Given the description of an element on the screen output the (x, y) to click on. 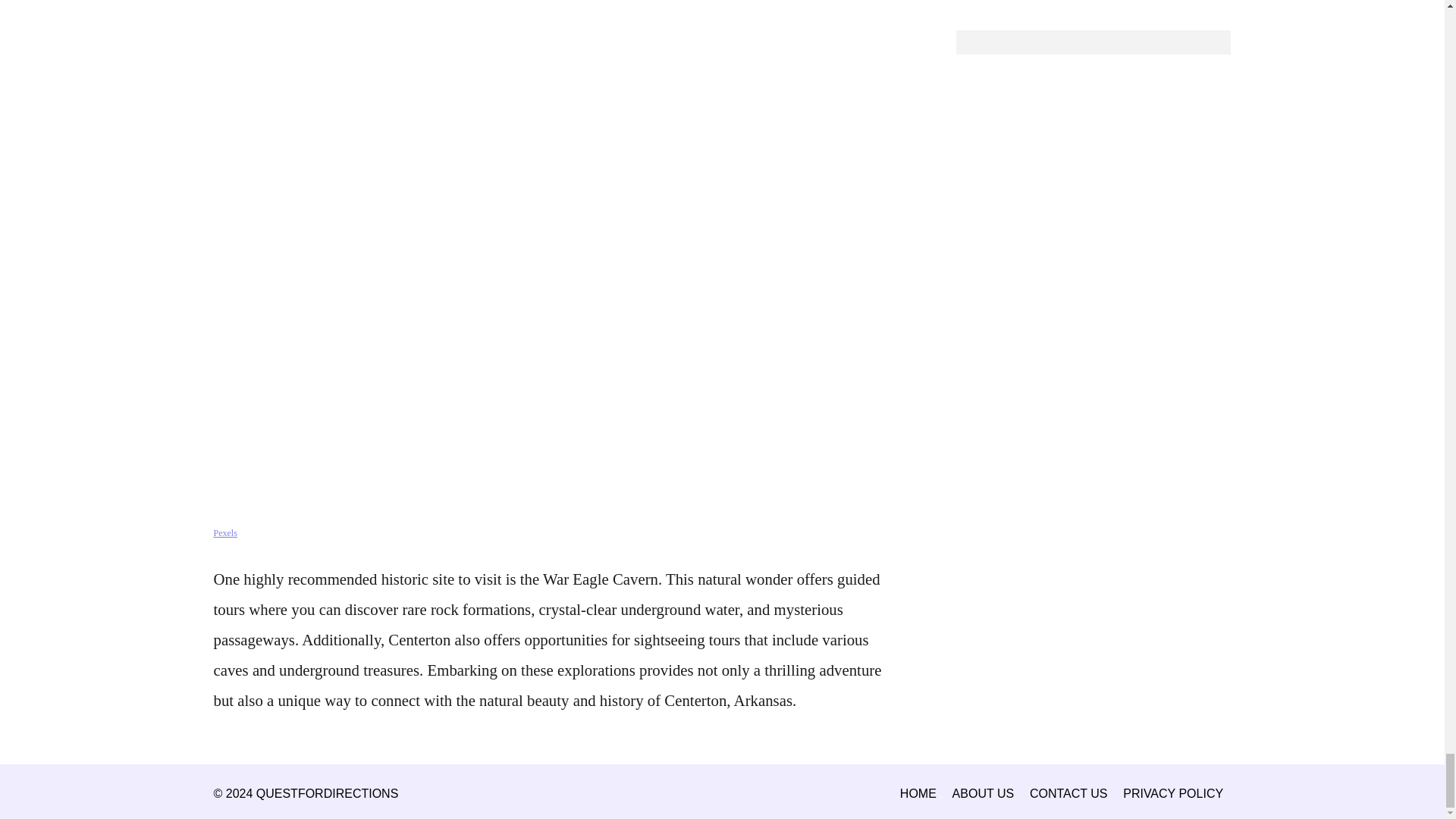
HOME (917, 793)
ABOUT US (982, 793)
PRIVACY POLICY (1173, 793)
Pexels (225, 532)
CONTACT US (1068, 793)
